Given the description of an element on the screen output the (x, y) to click on. 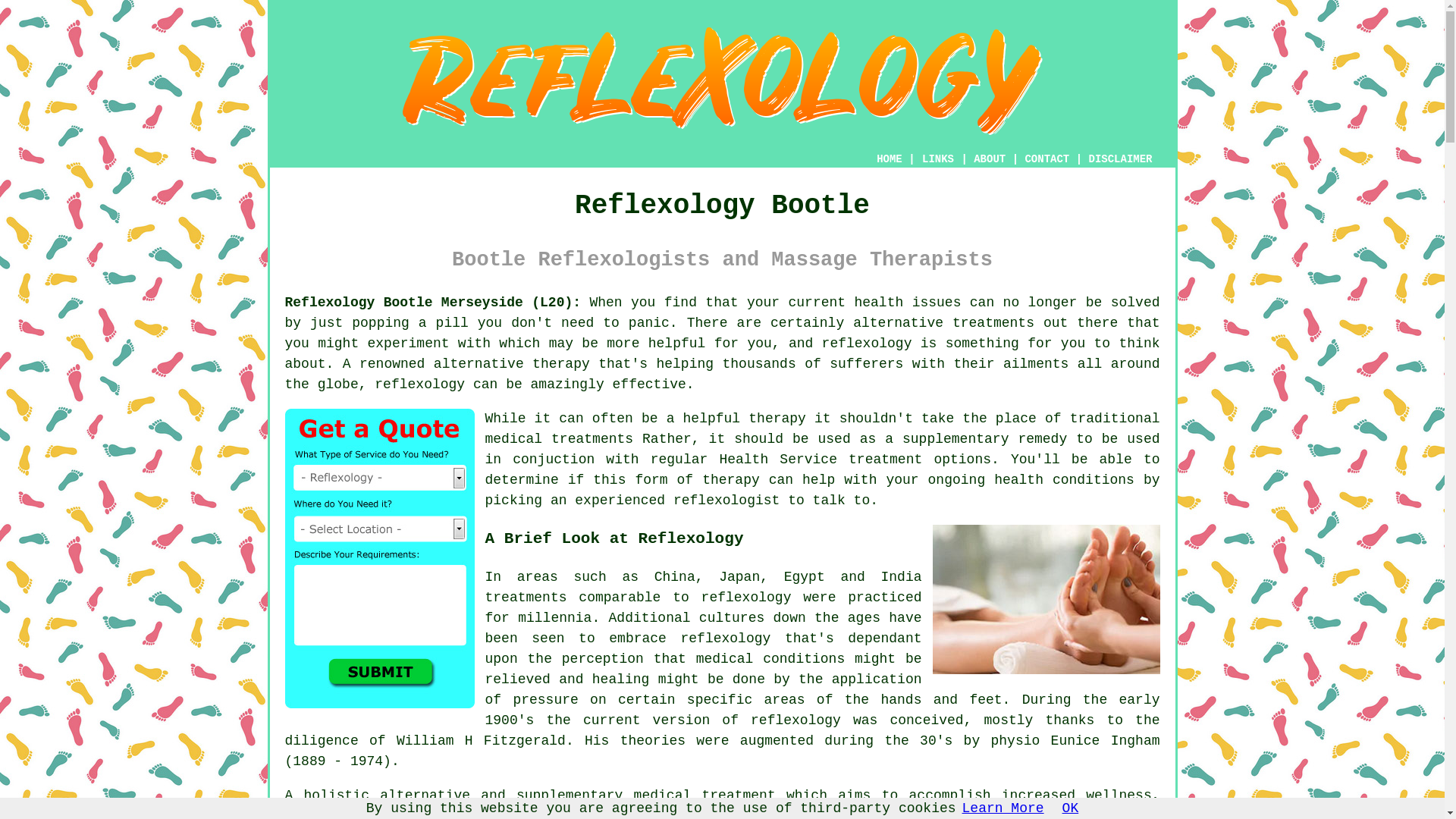
Reflexologist Bootle (722, 81)
LINKS (938, 159)
HOME (889, 159)
reflexologist (725, 500)
therapy (777, 418)
reflexology (867, 343)
